Given the description of an element on the screen output the (x, y) to click on. 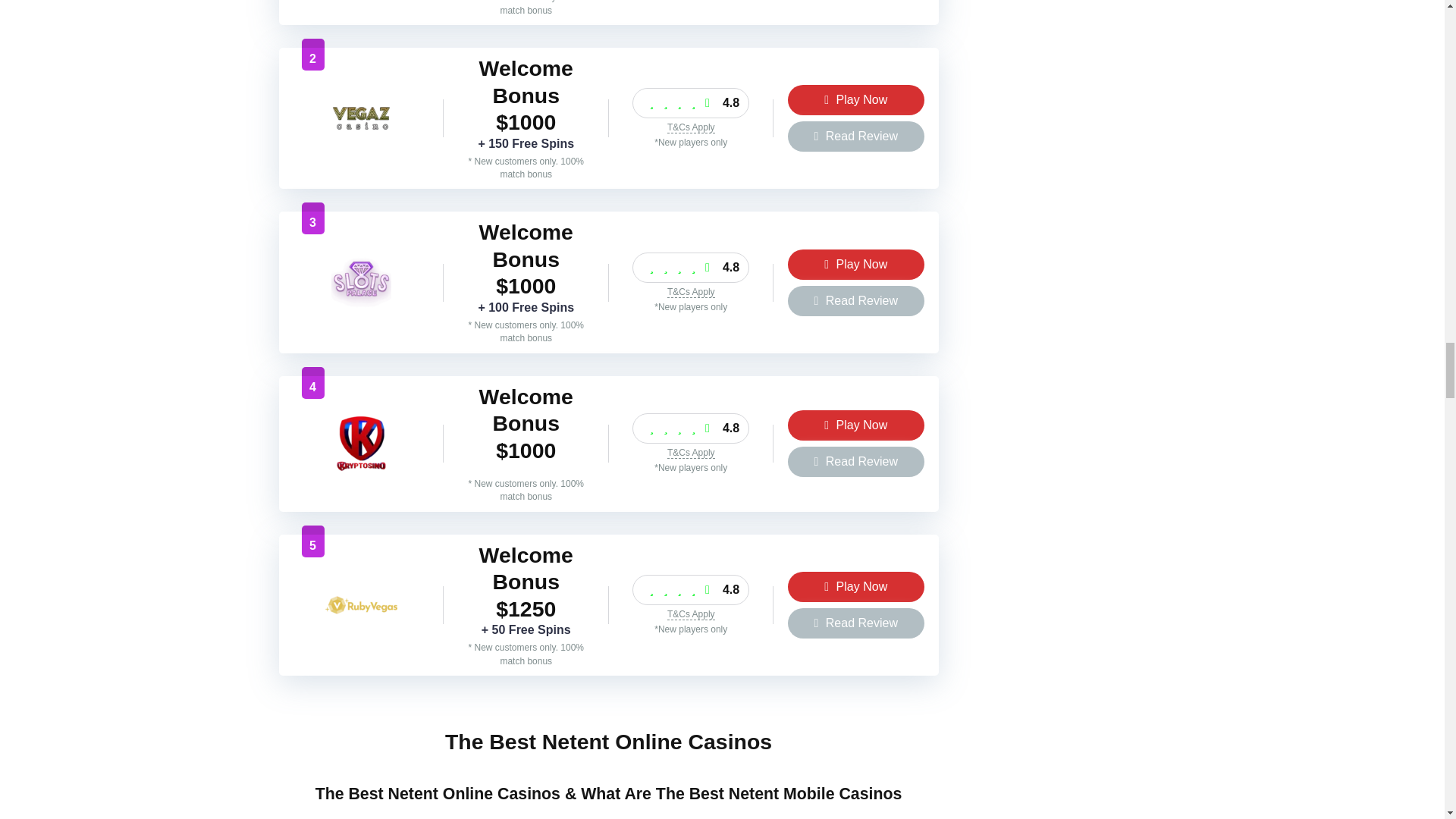
Read Review (855, 300)
Play Now (855, 100)
Play Now (855, 586)
Read Review (855, 461)
Read Review (855, 623)
Read Review (855, 136)
Play Now (855, 425)
Play Now (855, 264)
